Given the description of an element on the screen output the (x, y) to click on. 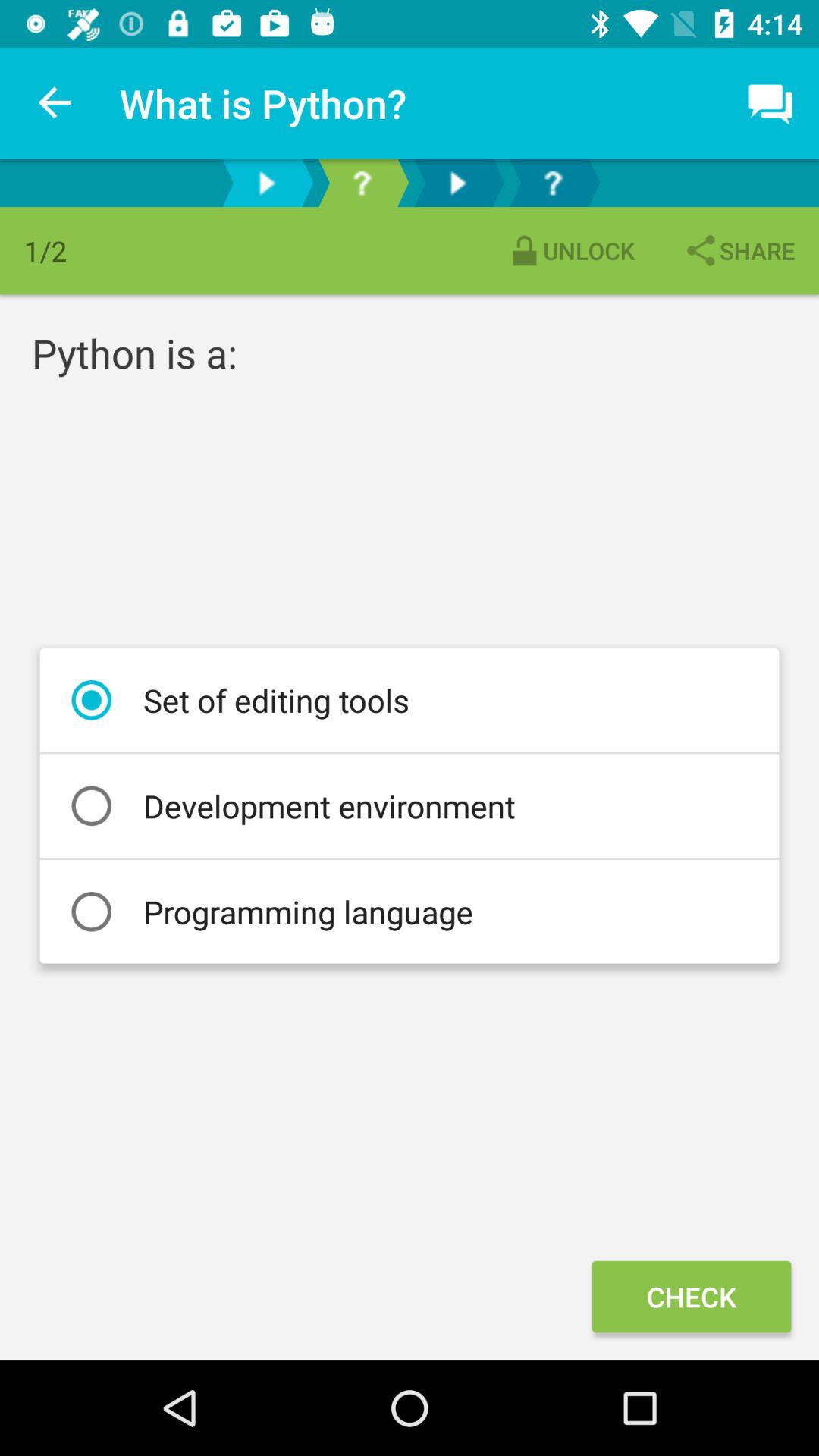
swipe until share (738, 250)
